Given the description of an element on the screen output the (x, y) to click on. 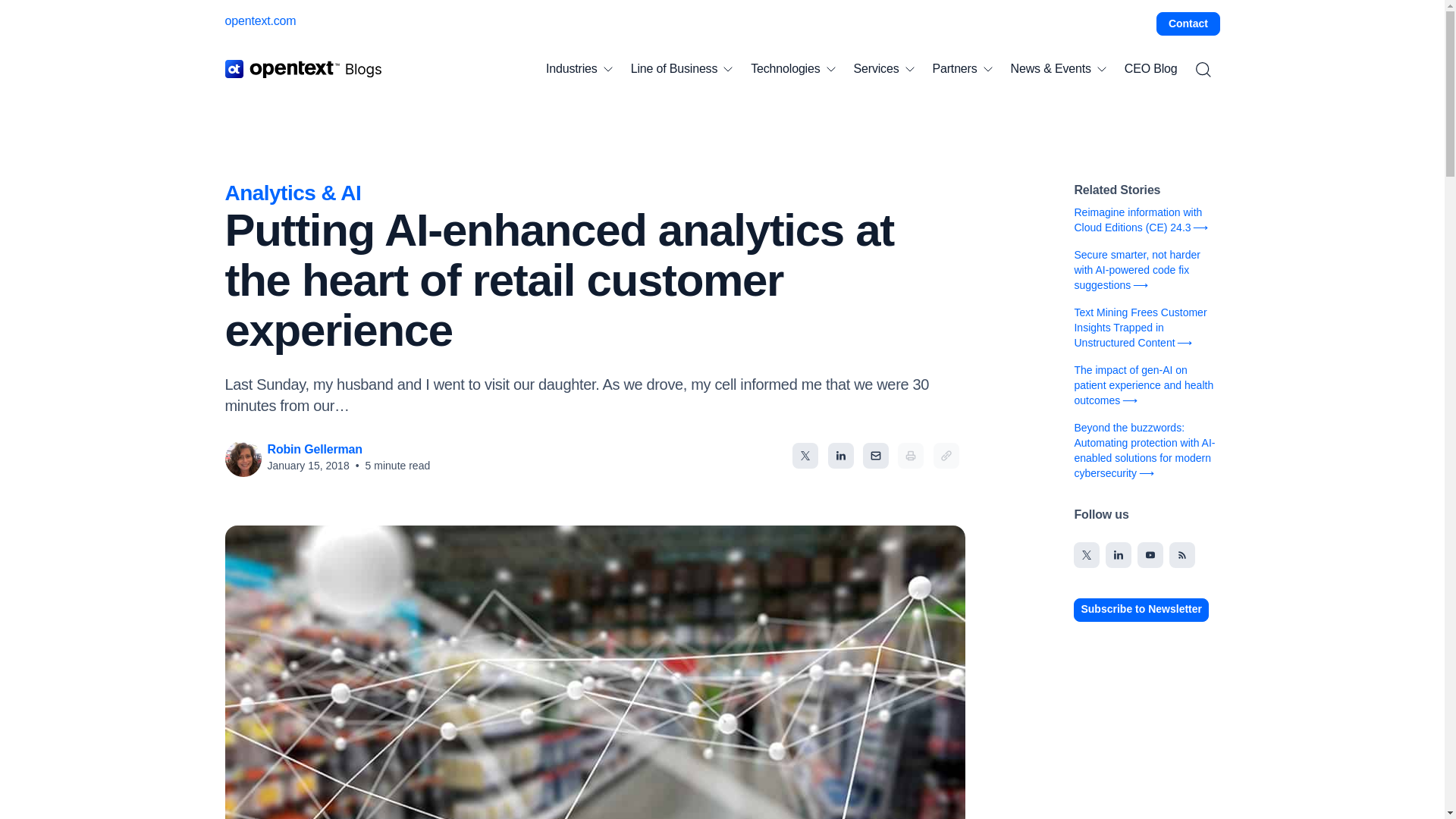
Line of Business (681, 69)
Contact (1188, 24)
opentext.com (259, 20)
Opentext blogs home page (302, 68)
Industries (579, 69)
Technologies (792, 69)
